Given the description of an element on the screen output the (x, y) to click on. 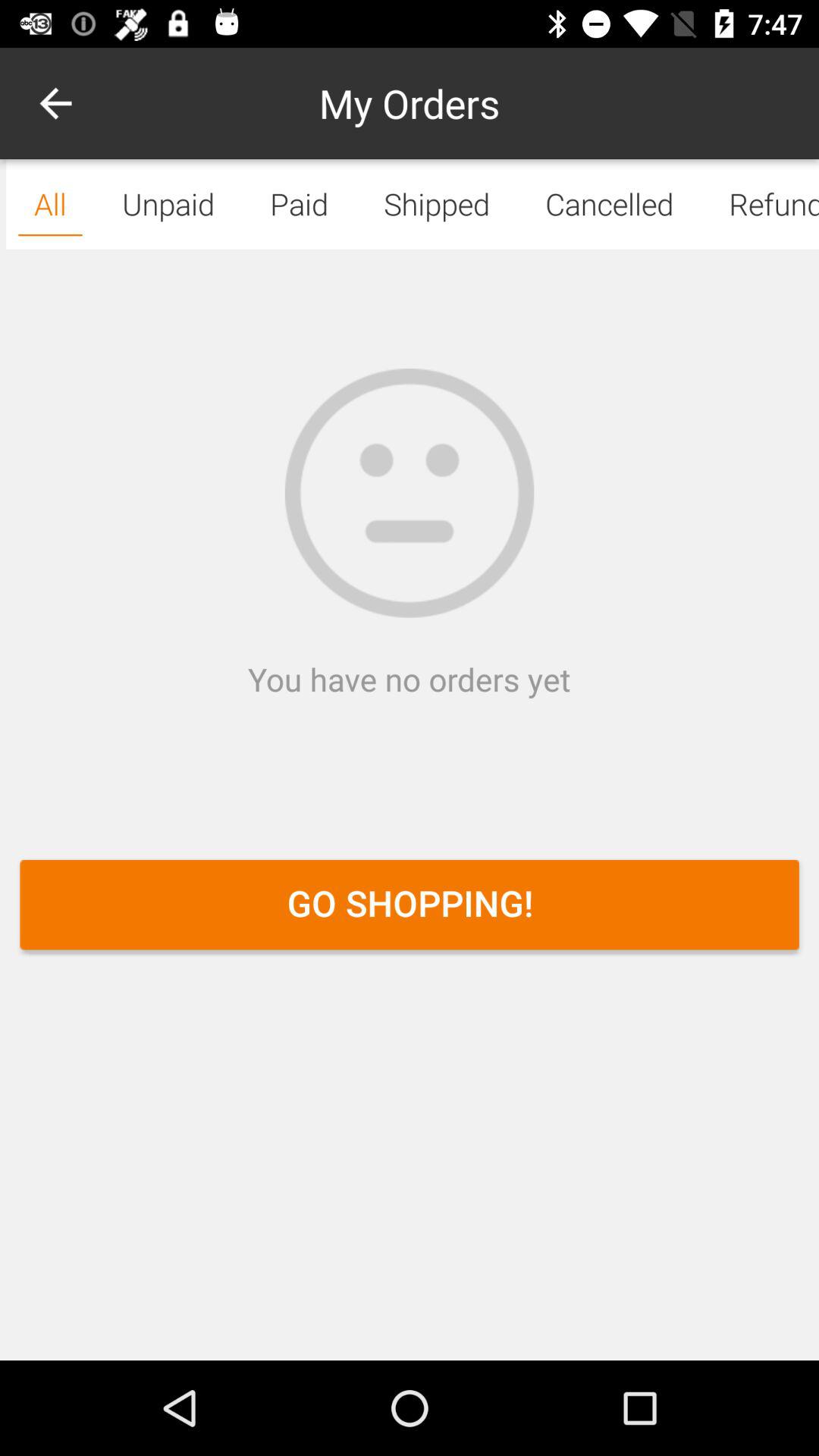
open the icon above all icon (55, 103)
